Given the description of an element on the screen output the (x, y) to click on. 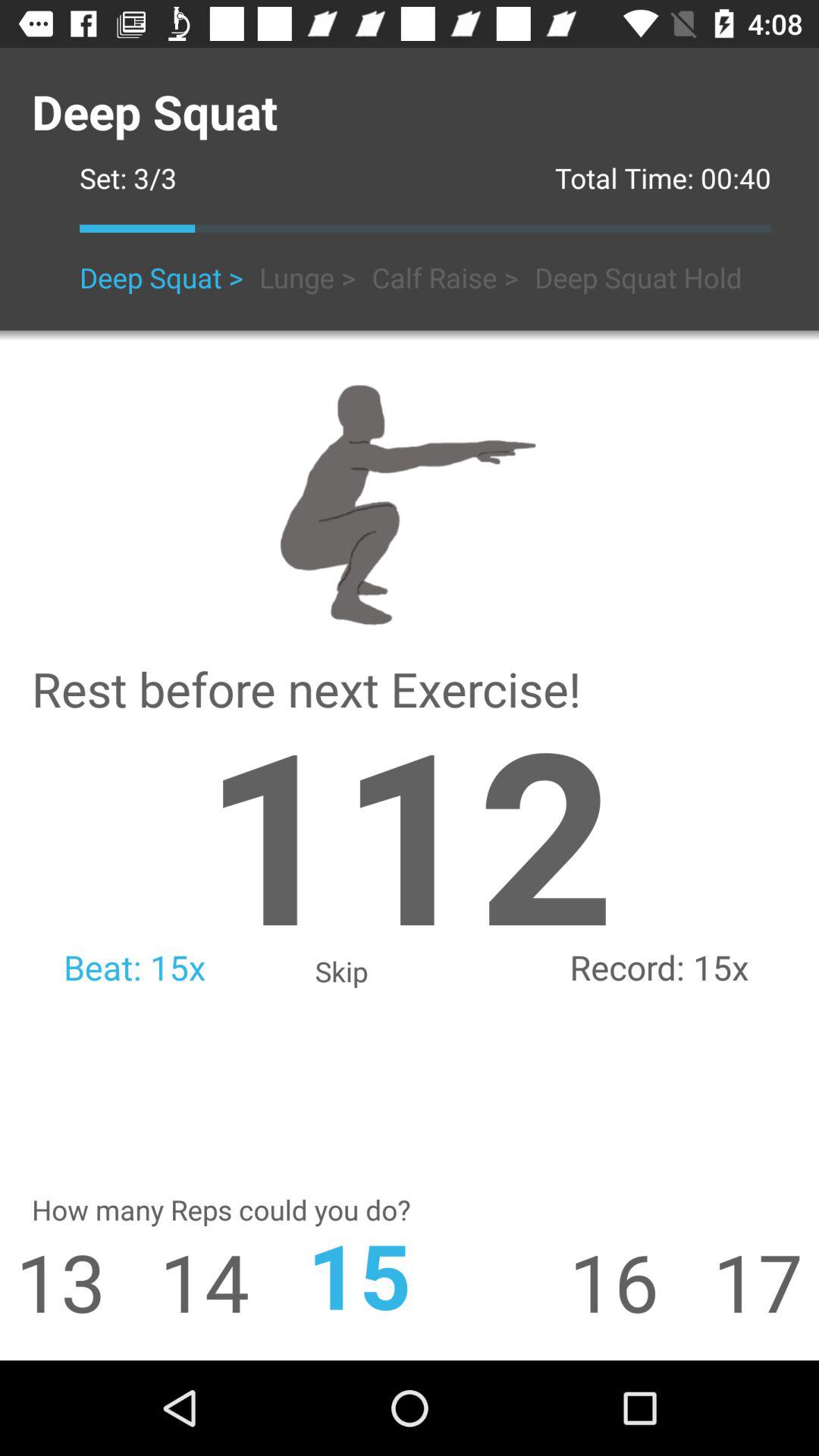
tap app next to 15x icon (408, 831)
